Given the description of an element on the screen output the (x, y) to click on. 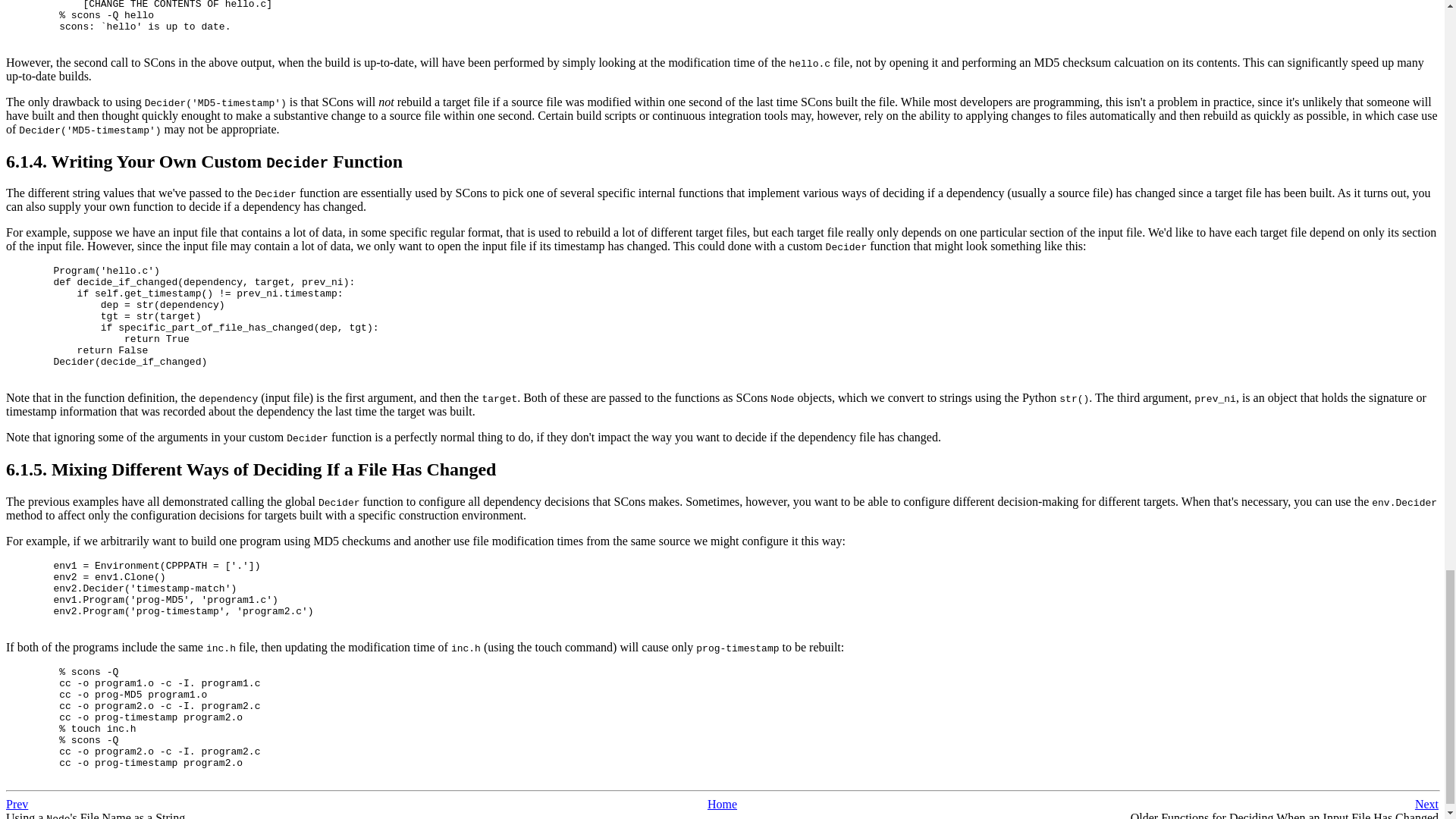
Prev (16, 803)
6.1.4. Writing Your Own Custom Decider Function (204, 161)
Home (721, 803)
